Given the description of an element on the screen output the (x, y) to click on. 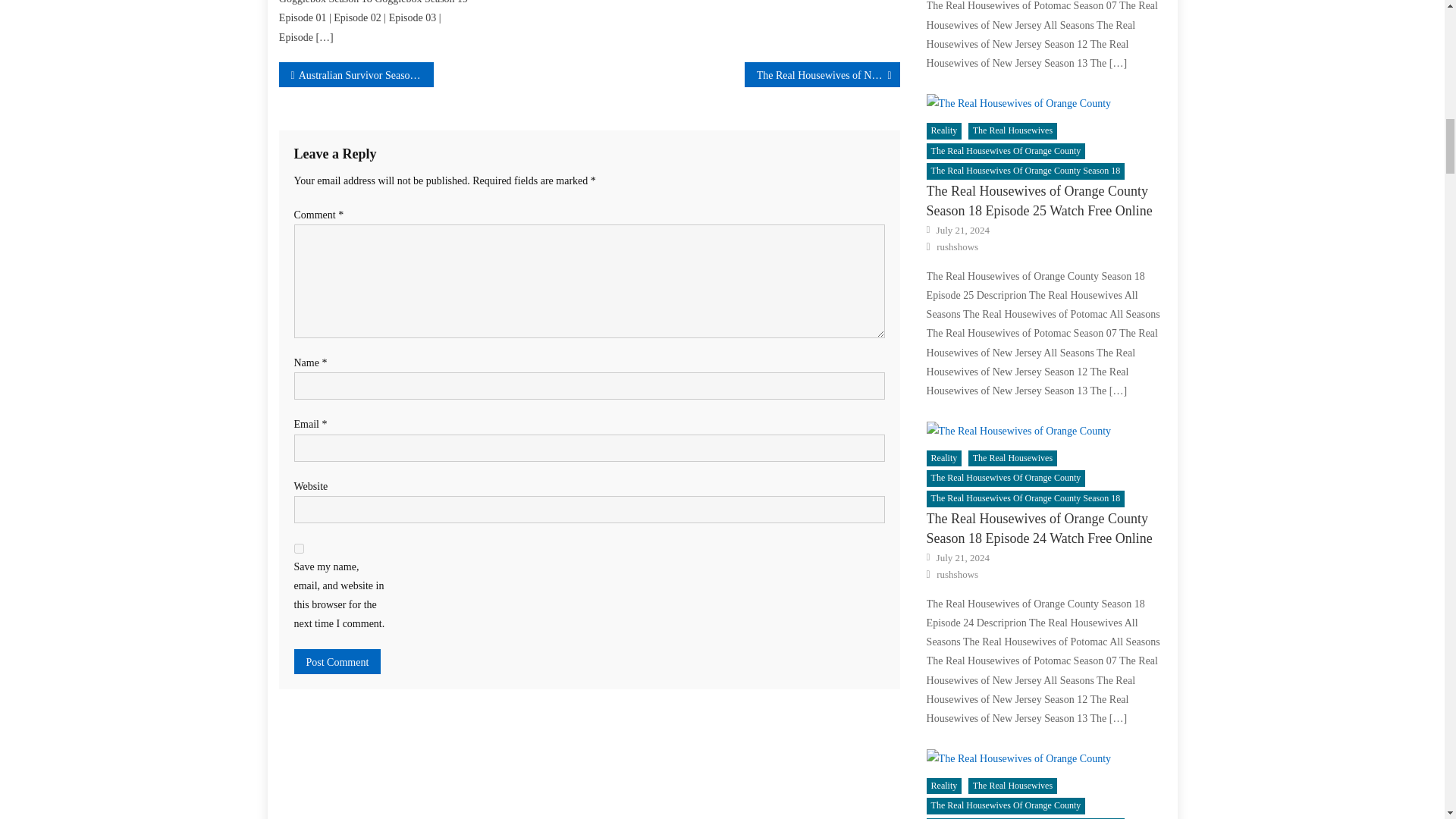
yes (299, 548)
Post Comment (337, 661)
